Given the description of an element on the screen output the (x, y) to click on. 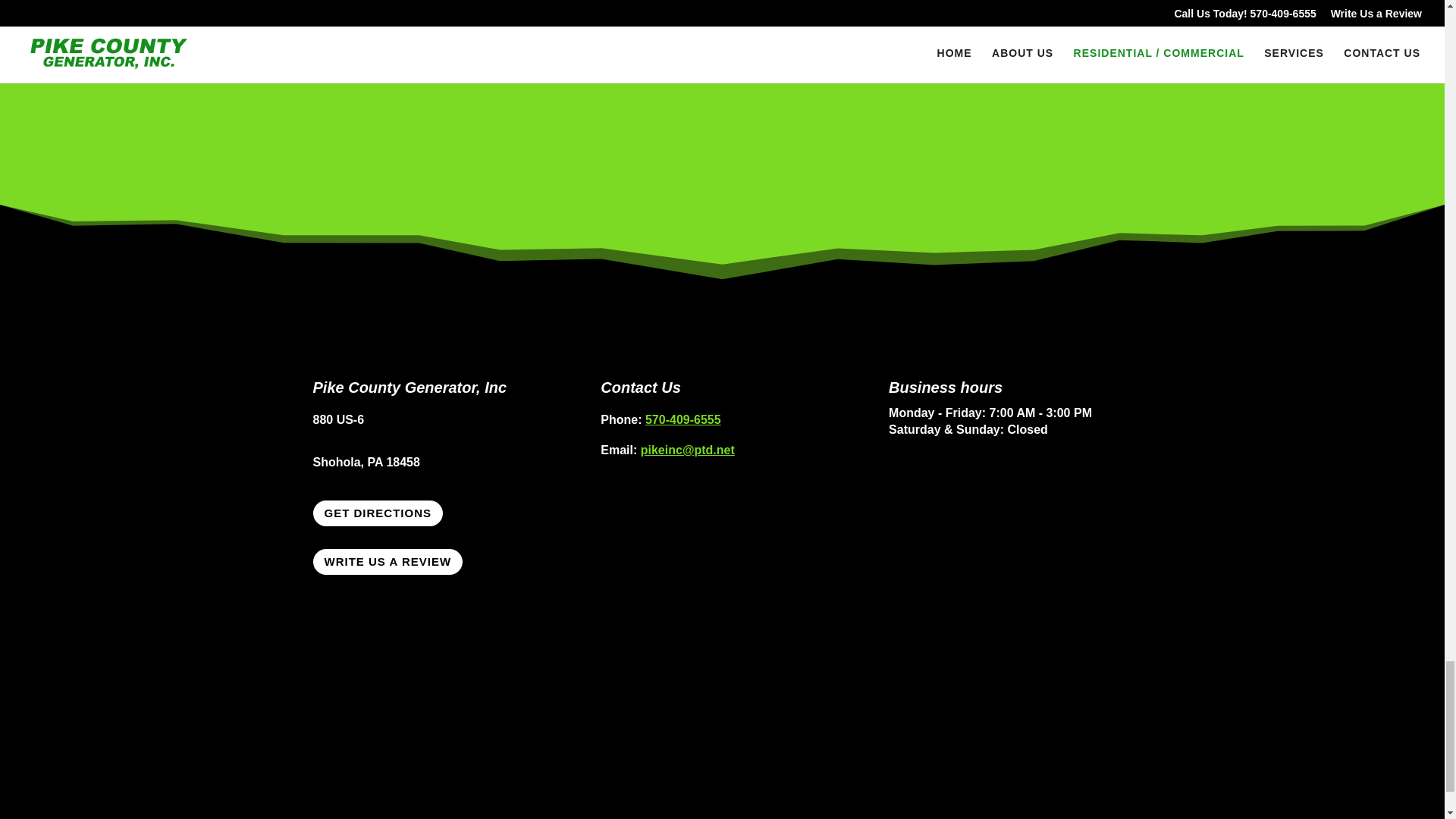
880 US-6 (338, 419)
GET DIRECTIONS (377, 513)
WRITE US A REVIEW (388, 561)
Shohola, PA 18458 (366, 461)
570-409-6555 (682, 419)
